Given the description of an element on the screen output the (x, y) to click on. 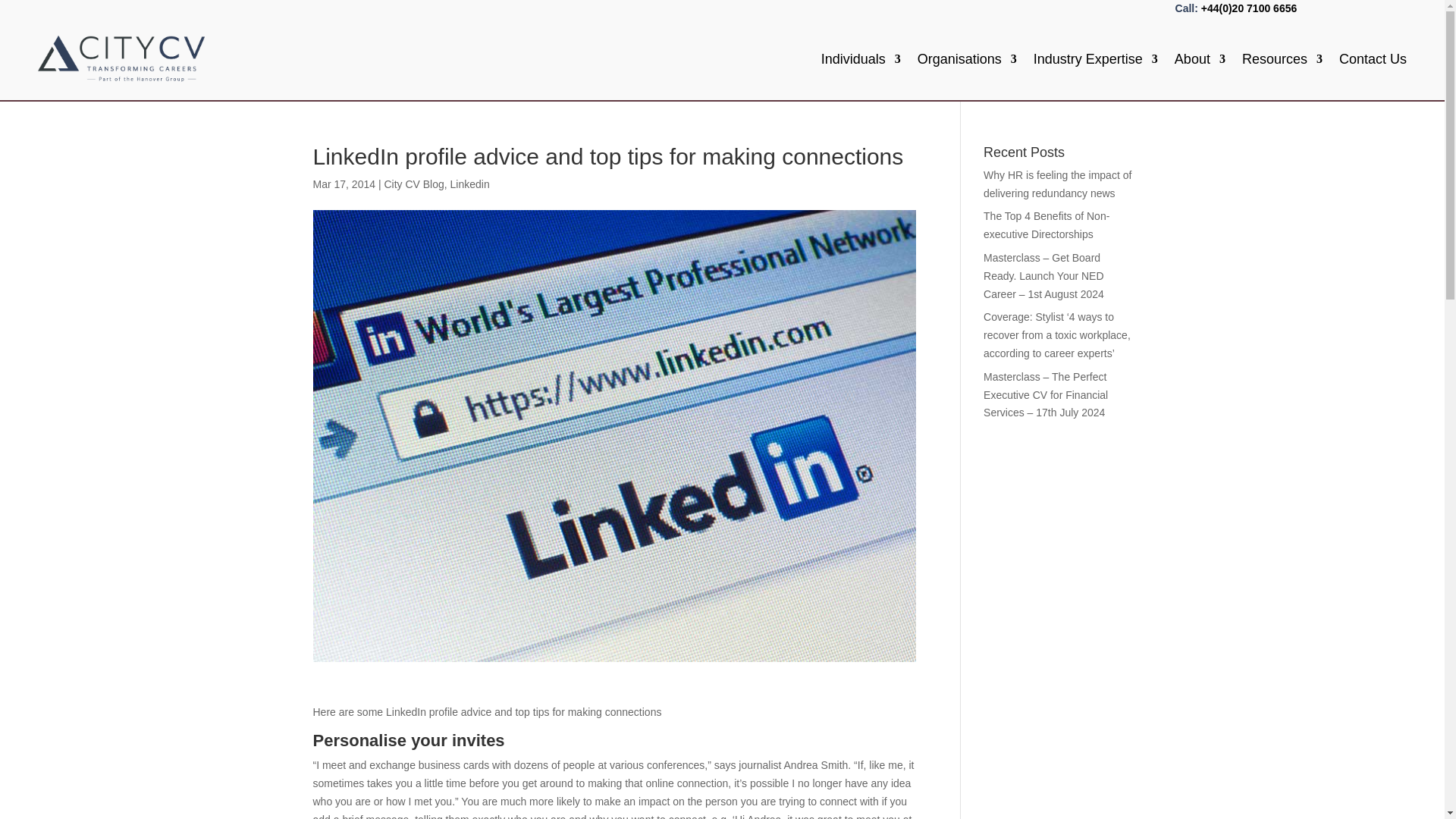
Industry Expertise (1095, 58)
Organisations (966, 58)
Individuals (861, 58)
